Given the description of an element on the screen output the (x, y) to click on. 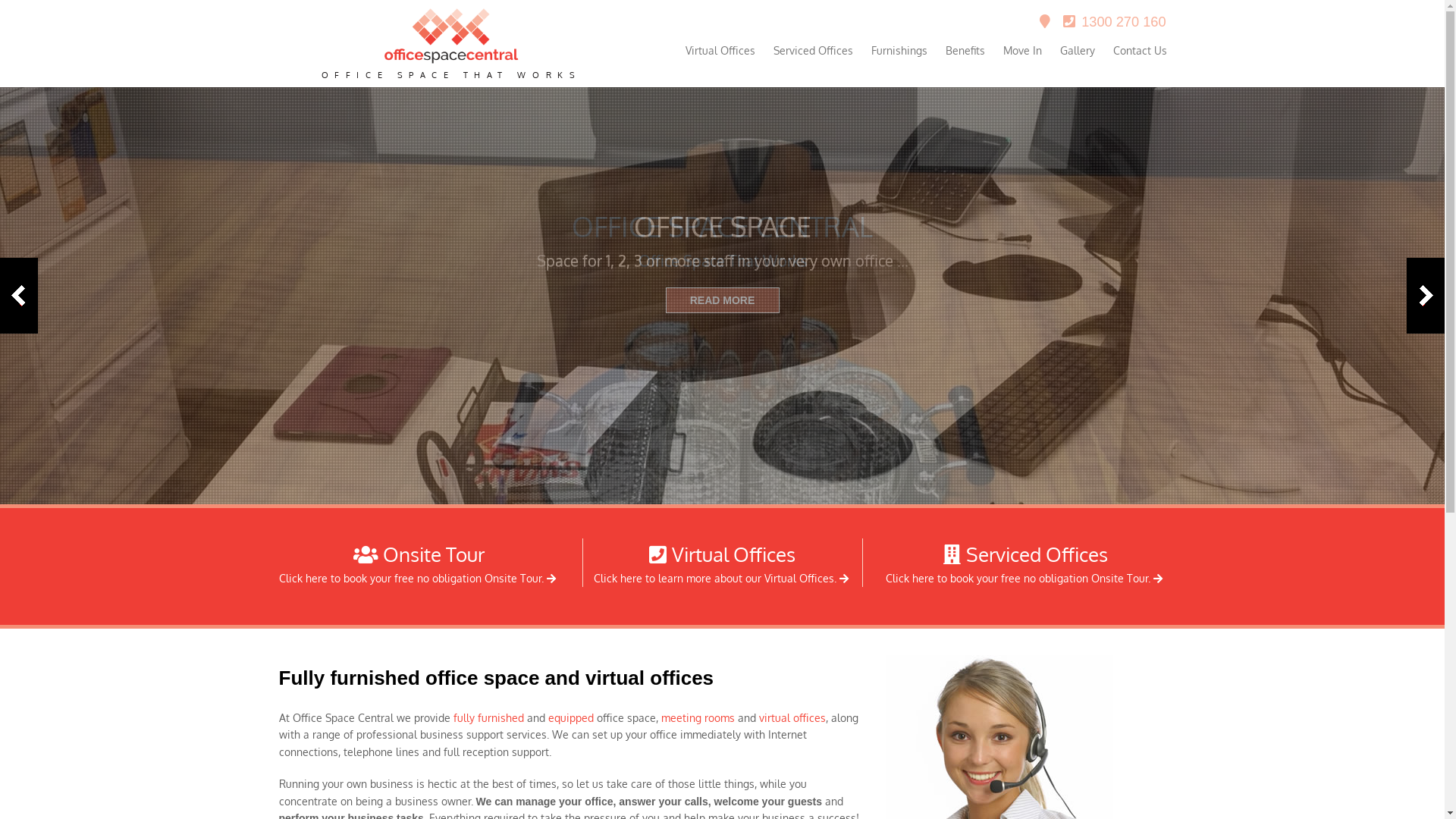
Gallery Element type: text (1077, 50)
  Element type: text (1046, 21)
Home Element type: hover (451, 59)
  Element type: text (845, 577)
meeting rooms Element type: text (697, 717)
Level 1, 445 Keilor Road, Niddrie, VIC, Australia, 3042 Element type: hover (1046, 21)
  1300 270 160 Element type: text (1114, 21)
 Virtual Offices Element type: text (722, 553)
virtual offices Element type: text (791, 717)
  Element type: text (1159, 577)
Next Element type: text (1425, 295)
here Element type: text (923, 577)
  Element type: text (552, 577)
Serviced Offices Element type: text (812, 50)
here Element type: text (631, 577)
here Element type: text (316, 577)
Furnishings Element type: text (898, 50)
Benefits Element type: text (964, 50)
 Serviced Offices Element type: text (1025, 553)
Previous Element type: text (18, 295)
Move In Element type: text (1021, 50)
fully furnished Element type: text (488, 717)
READ MORE Element type: text (722, 300)
equipped Element type: text (570, 717)
Virtual Offices Element type: text (719, 50)
Contact Us Element type: text (1139, 50)
 Onsite Tour Element type: text (419, 553)
